Given the description of an element on the screen output the (x, y) to click on. 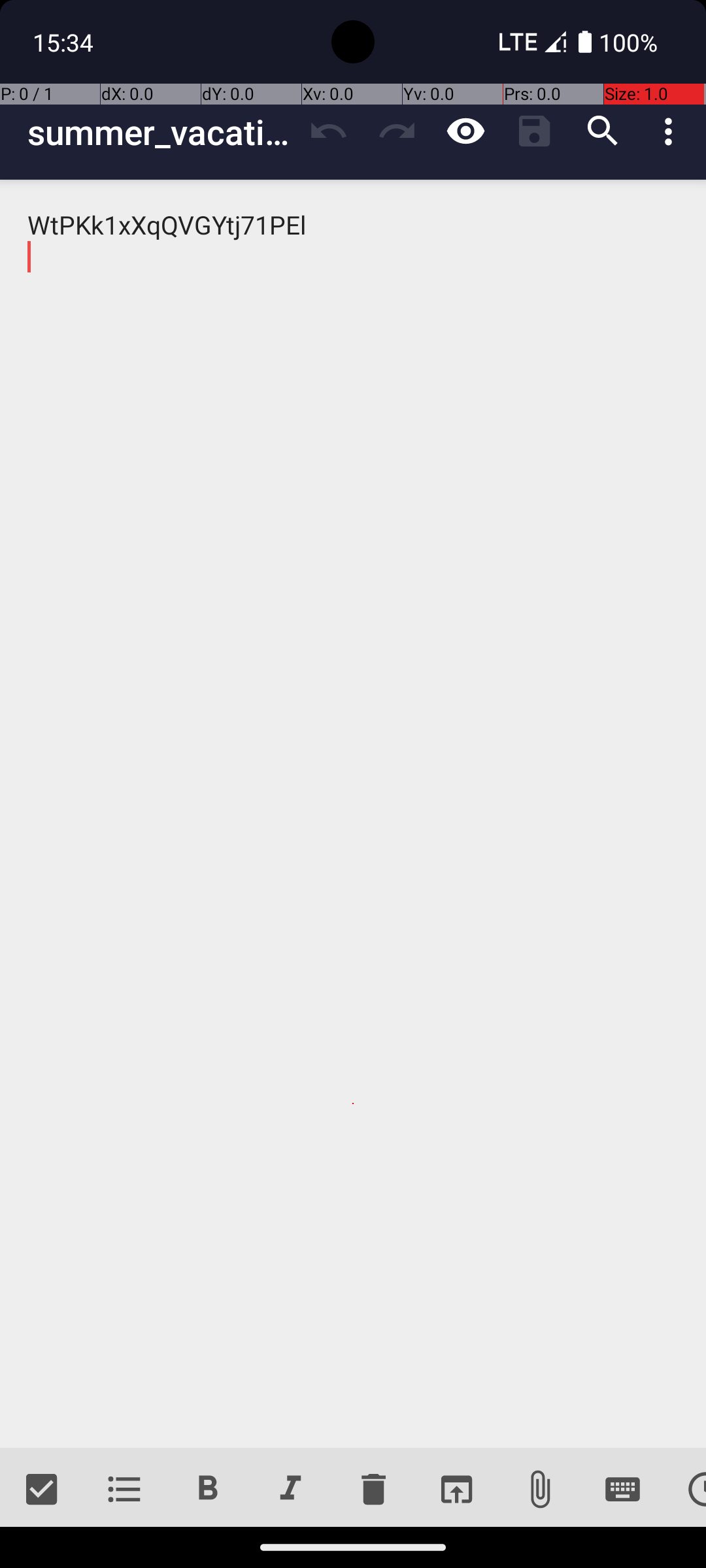
summer_vacation_plans_ZDk8 Element type: android.widget.TextView (160, 131)
WtPKk1xXqQVGYtj71PEl
 Element type: android.widget.EditText (353, 813)
